Given the description of an element on the screen output the (x, y) to click on. 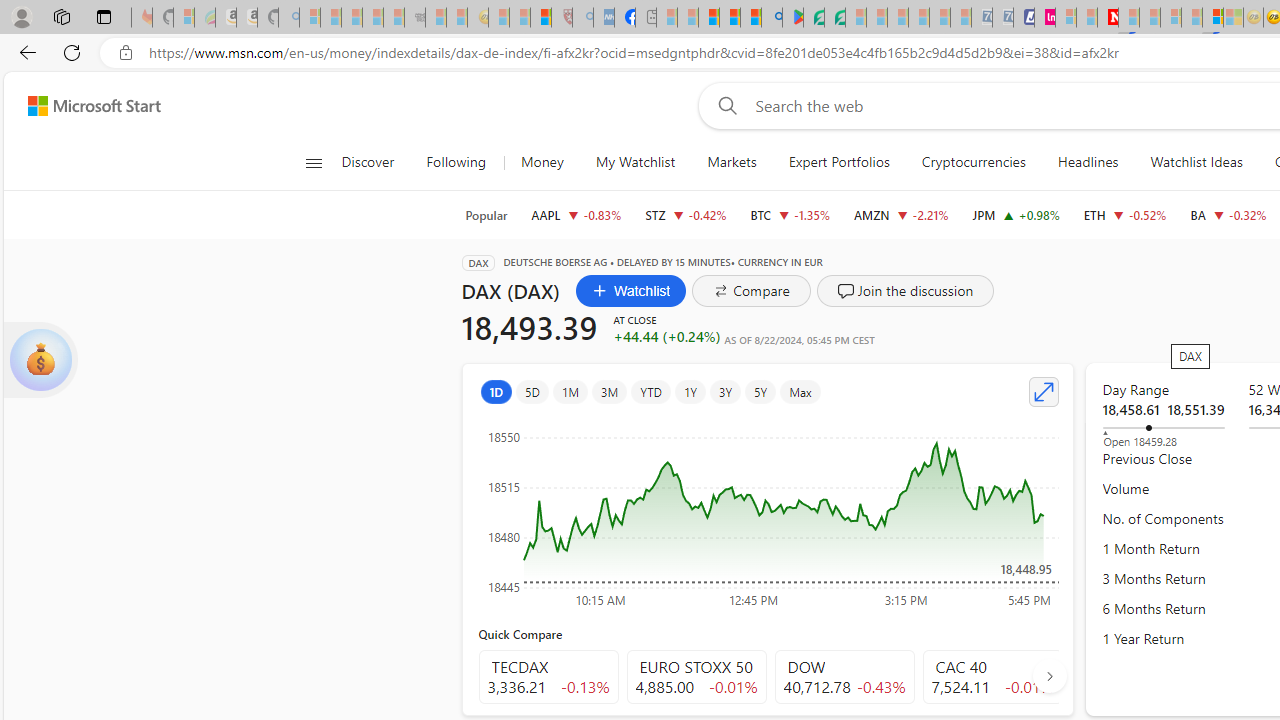
Markets (731, 162)
Compare (751, 290)
5D (531, 391)
AMZN AMAZON.COM, INC. decrease 176.13 -3.98 -2.21% (901, 214)
Expert Portfolios (838, 162)
Class: recharts-surface (767, 512)
BA THE BOEING COMPANY decrease 172.87 -0.56 -0.32% (1227, 214)
Headlines (1087, 162)
Headlines (1087, 162)
